Given the description of an element on the screen output the (x, y) to click on. 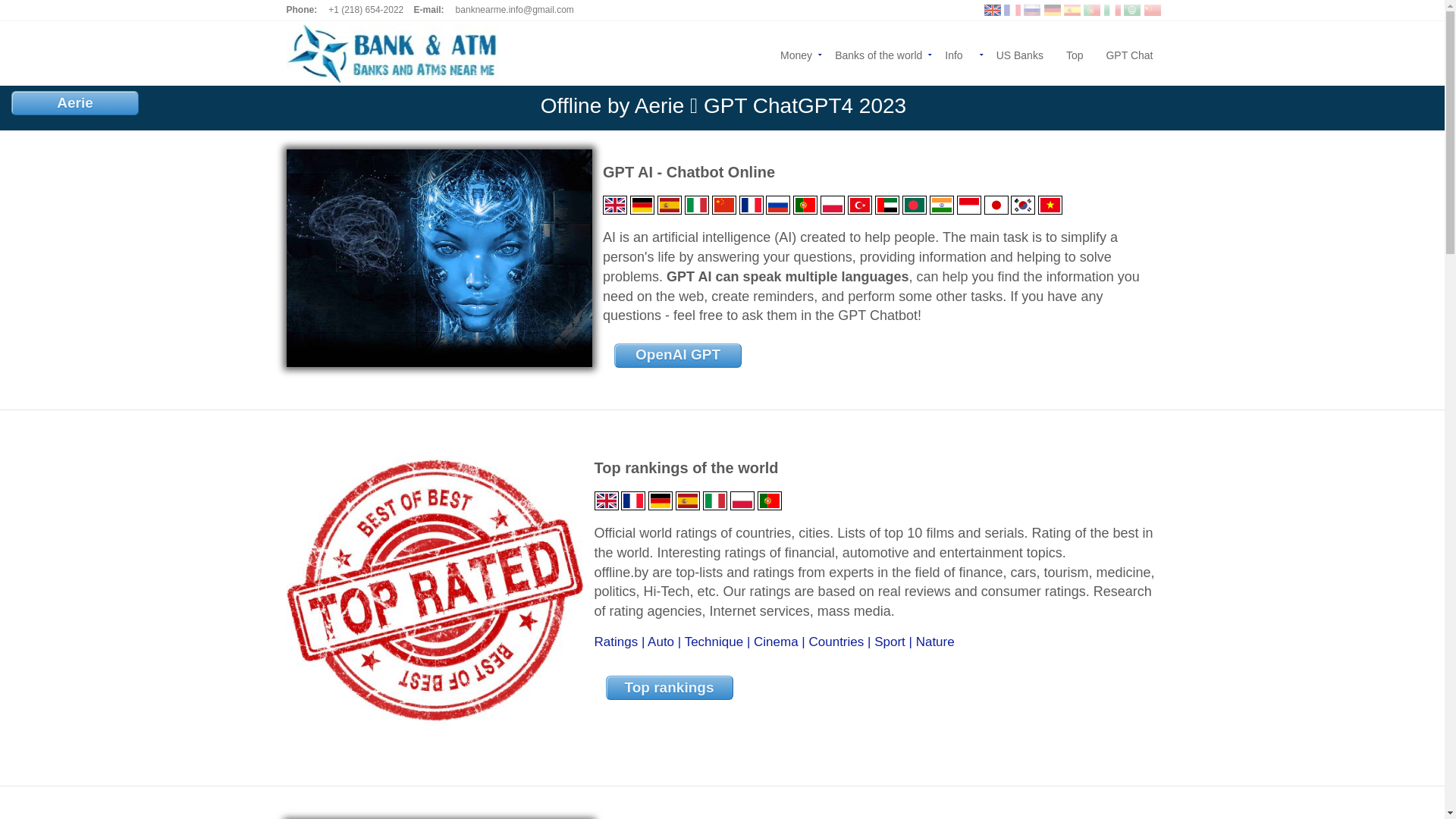
OpenAI GPT Element type: text (677, 355)
Countries Element type: text (835, 641)
US Banks Element type: text (1019, 53)
English Element type: hover (606, 495)
Sport Element type: text (889, 641)
Ratings Element type: text (616, 641)
Top rankings Element type: text (669, 687)
Nature Element type: text (935, 641)
Info Element type: text (958, 53)
banknearme.info@gmail.com Element type: text (514, 9)
Money Element type: text (795, 53)
Polski Element type: hover (742, 495)
Aerie Element type: text (74, 103)
Technique Element type: text (713, 641)
Cinema Element type: text (775, 641)
Deutsch Element type: hover (660, 495)
Italiano Element type: hover (714, 495)
GPT Chat Element type: text (1123, 53)
Banks of the world Element type: text (878, 53)
Auto Element type: text (660, 641)
+1 (218) 654-2022 Element type: text (365, 9)
Top Element type: text (1074, 53)
